Given the description of an element on the screen output the (x, y) to click on. 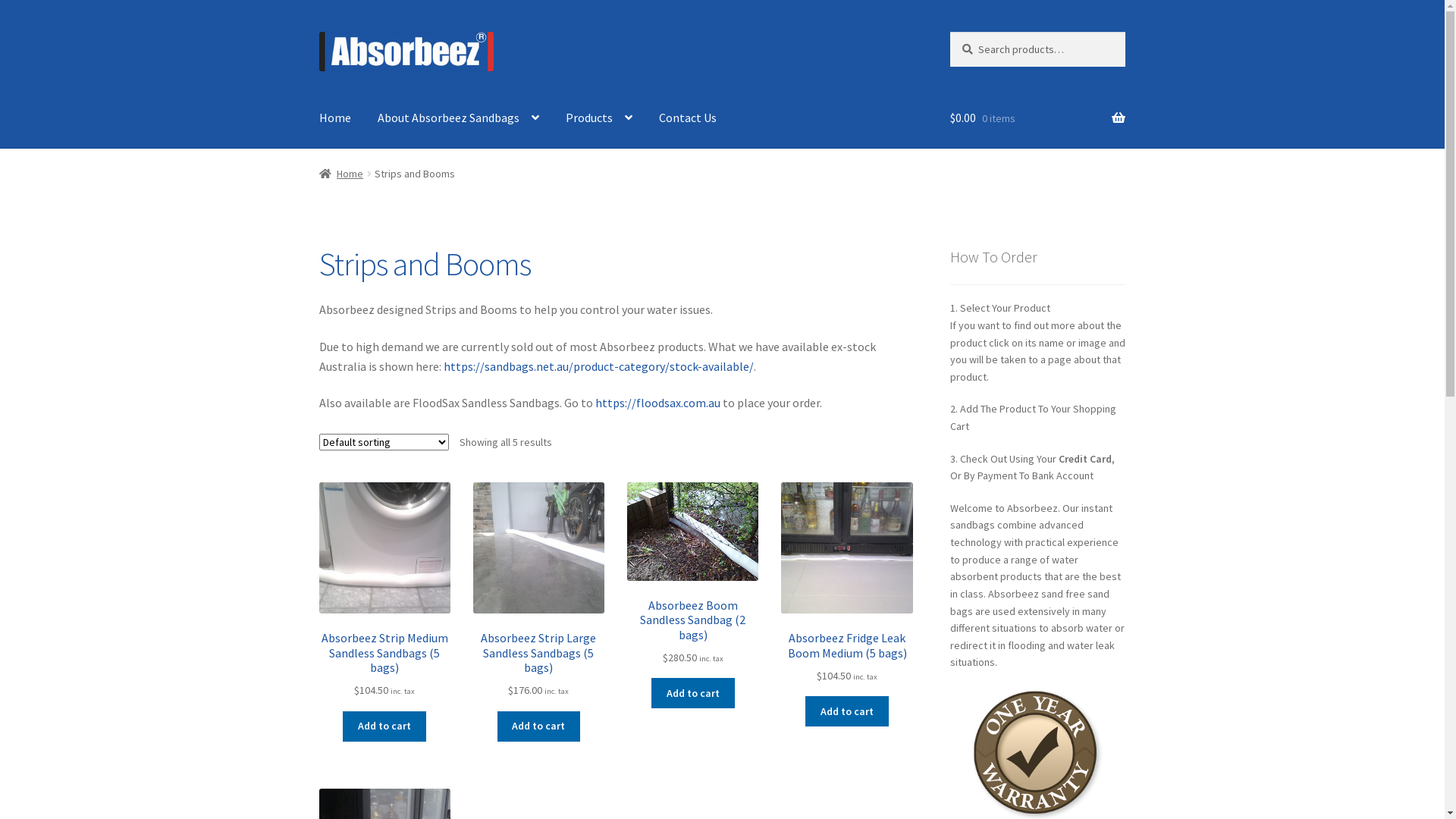
https://floodsax.com.au Element type: text (657, 402)
$0.00 0 items Element type: text (1037, 117)
About Absorbeez Sandbags Element type: text (458, 117)
Home Element type: text (341, 173)
Search Element type: text (949, 31)
https://sandbags.net.au/product-category/stock-available/ Element type: text (598, 365)
Home Element type: text (335, 117)
Add to cart Element type: text (846, 711)
Contact Us Element type: text (687, 117)
Absorbeez Boom Sandless Sandbag (2 bags)
$280.50 inc. tax Element type: text (692, 573)
Absorbeez Fridge Leak Boom Medium (5 bags)
$104.50 inc. tax Element type: text (846, 583)
Add to cart Element type: text (384, 726)
Skip to navigation Element type: text (318, 31)
Products Element type: text (598, 117)
Add to cart Element type: text (538, 726)
Add to cart Element type: text (692, 692)
